Given the description of an element on the screen output the (x, y) to click on. 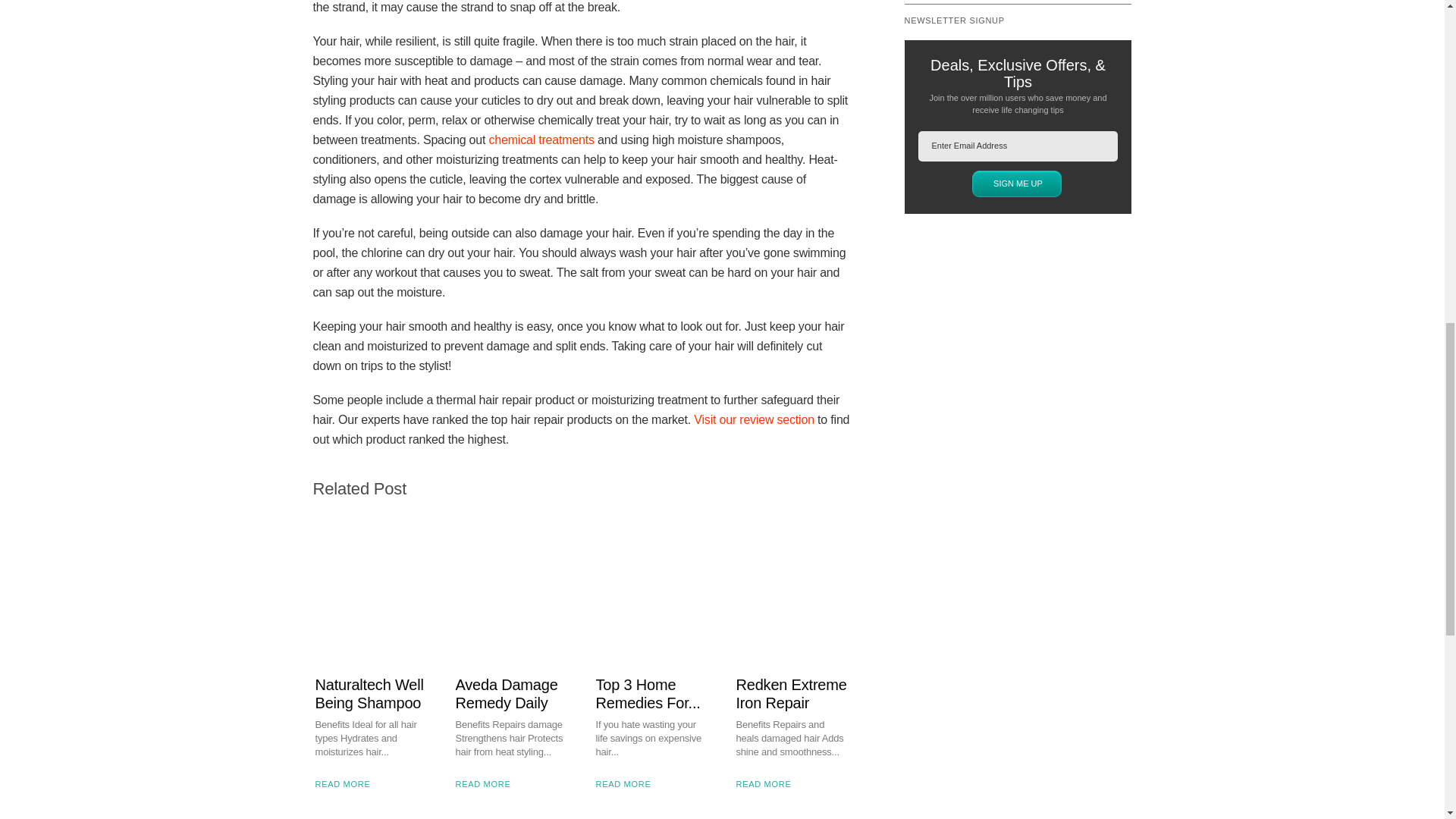
Repair Chemically Damaged Hair (540, 139)
Visit our review section (753, 419)
READ MORE (510, 799)
READ MORE (652, 799)
READ MORE (791, 799)
Naturaltech Well Being Shampoo (371, 693)
READ MORE (371, 799)
Top 3 Home Remedies For... (652, 693)
chemical treatments (540, 139)
Aveda Damage Remedy Daily Hair... (510, 702)
